Given the description of an element on the screen output the (x, y) to click on. 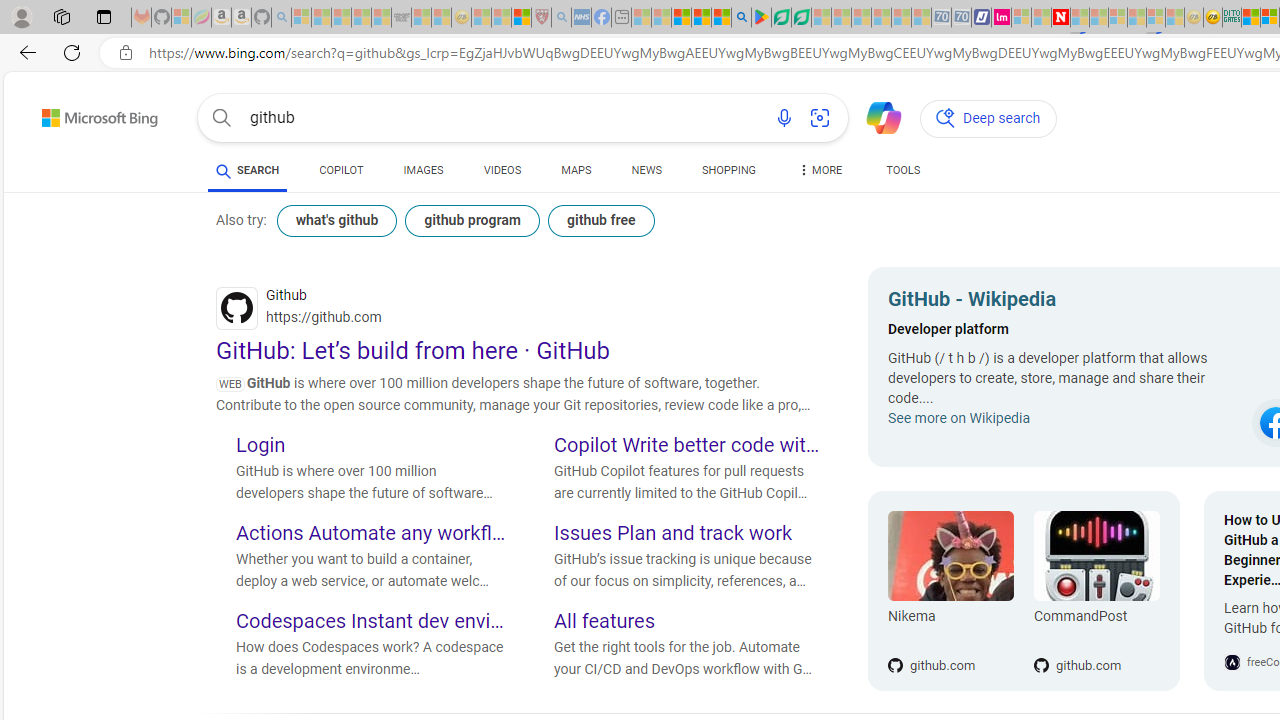
CommandPost (1096, 556)
Login (370, 446)
Nikema (950, 556)
github program (472, 220)
GitHub - Wikipedia (1064, 302)
SHOPPING (728, 173)
